Given the description of an element on the screen output the (x, y) to click on. 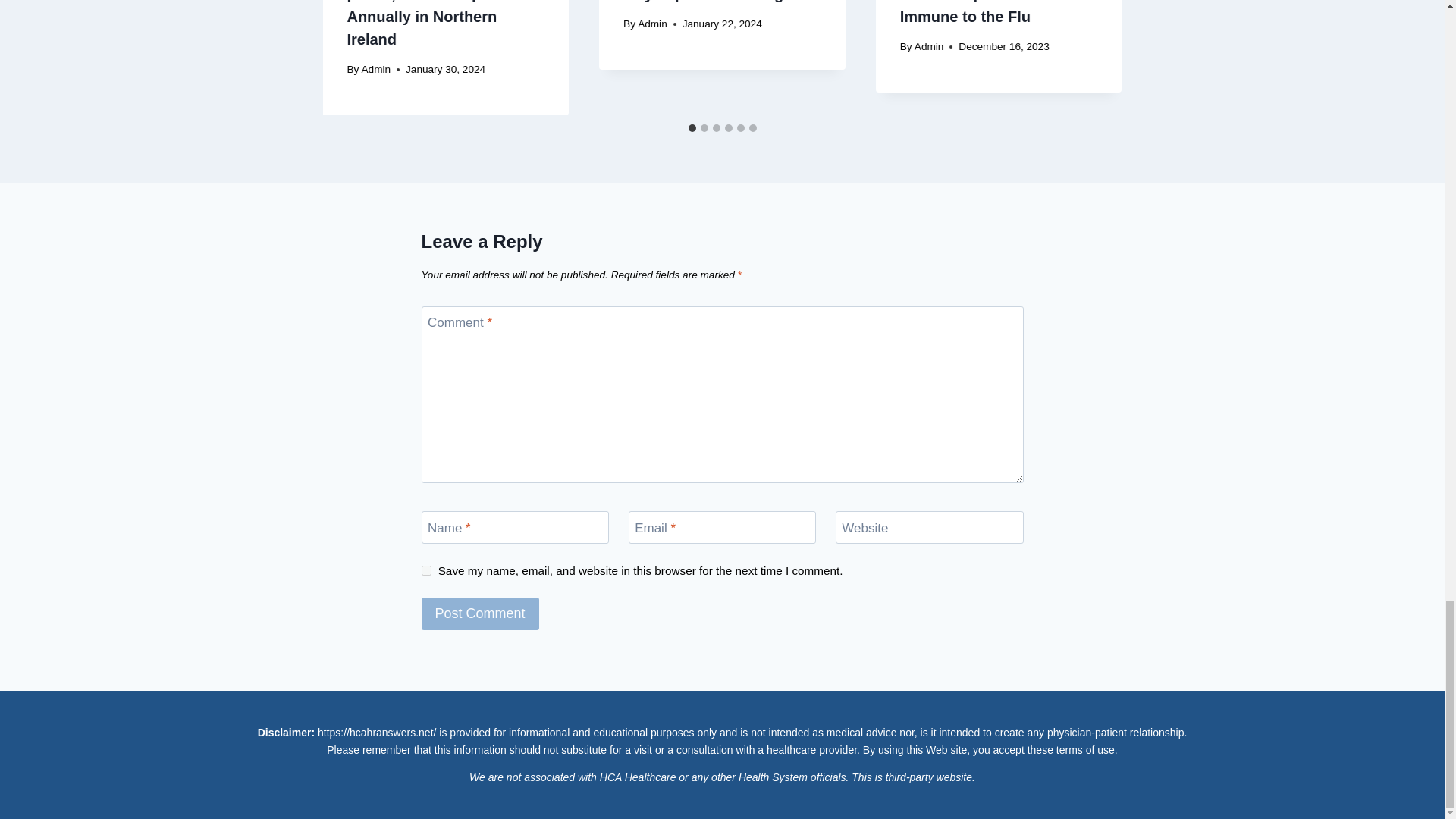
yes (426, 570)
Post Comment (480, 613)
